Given the description of an element on the screen output the (x, y) to click on. 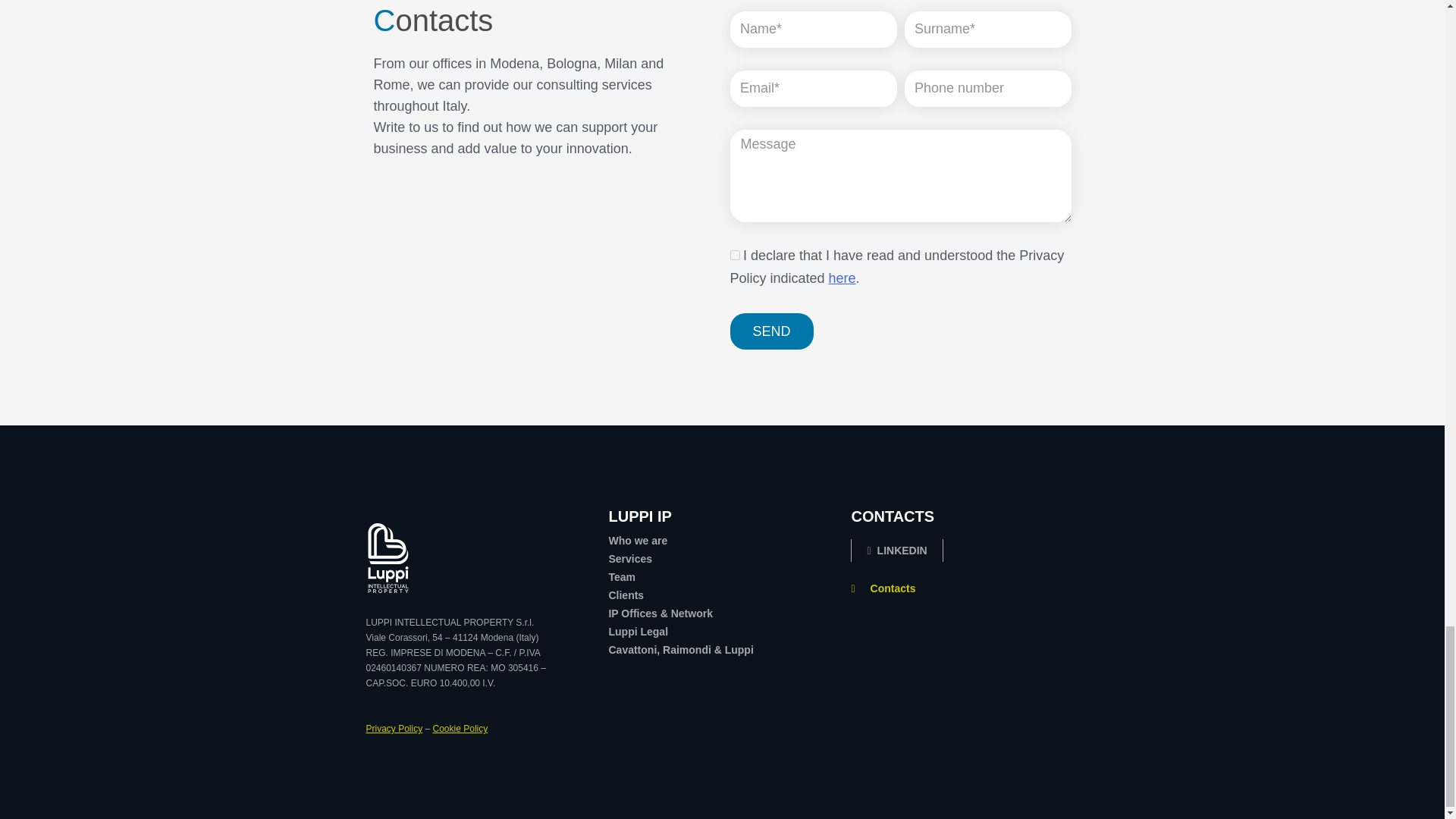
on (734, 255)
